Given the description of an element on the screen output the (x, y) to click on. 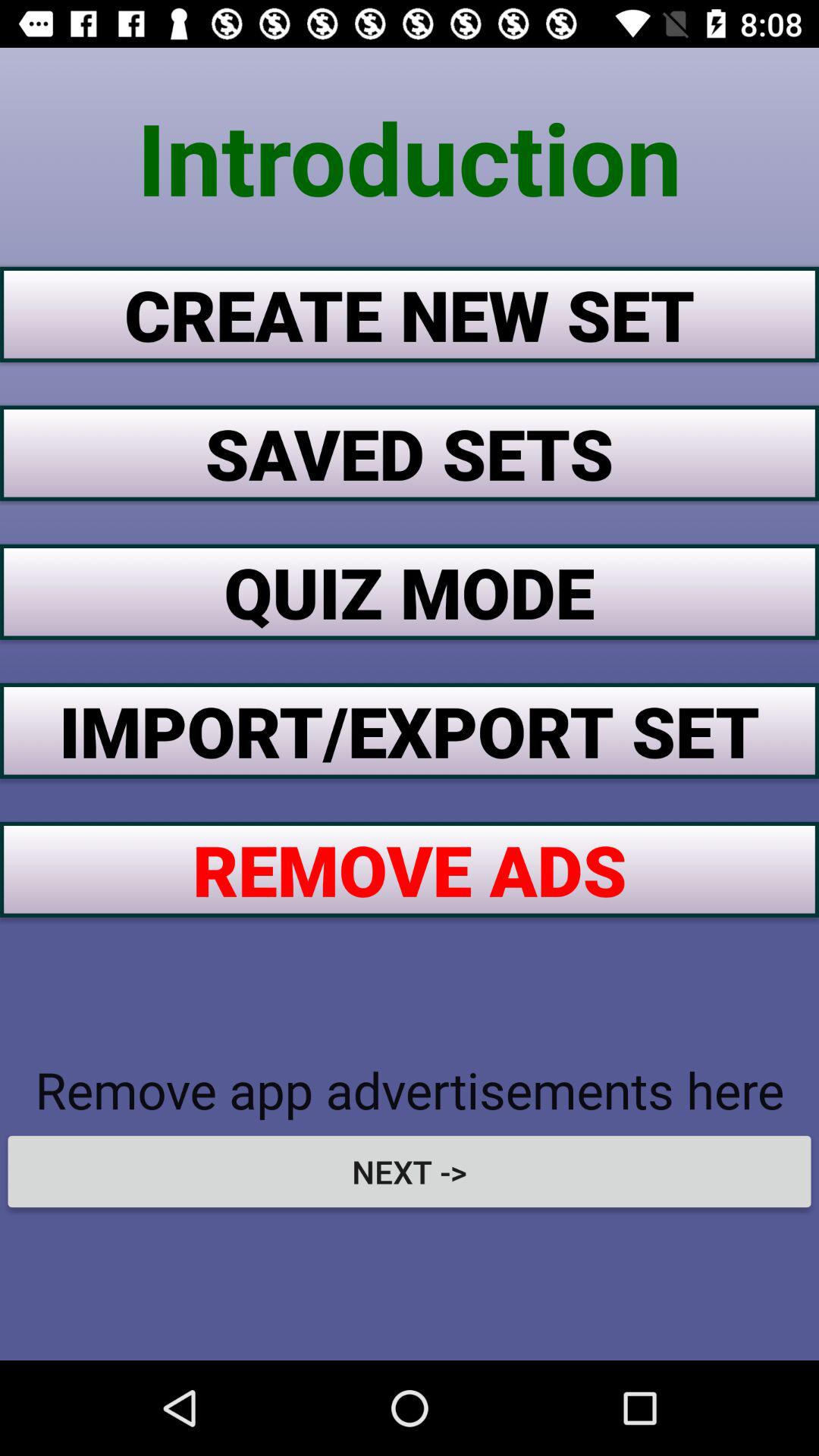
turn on the button below the quiz mode item (409, 730)
